Given the description of an element on the screen output the (x, y) to click on. 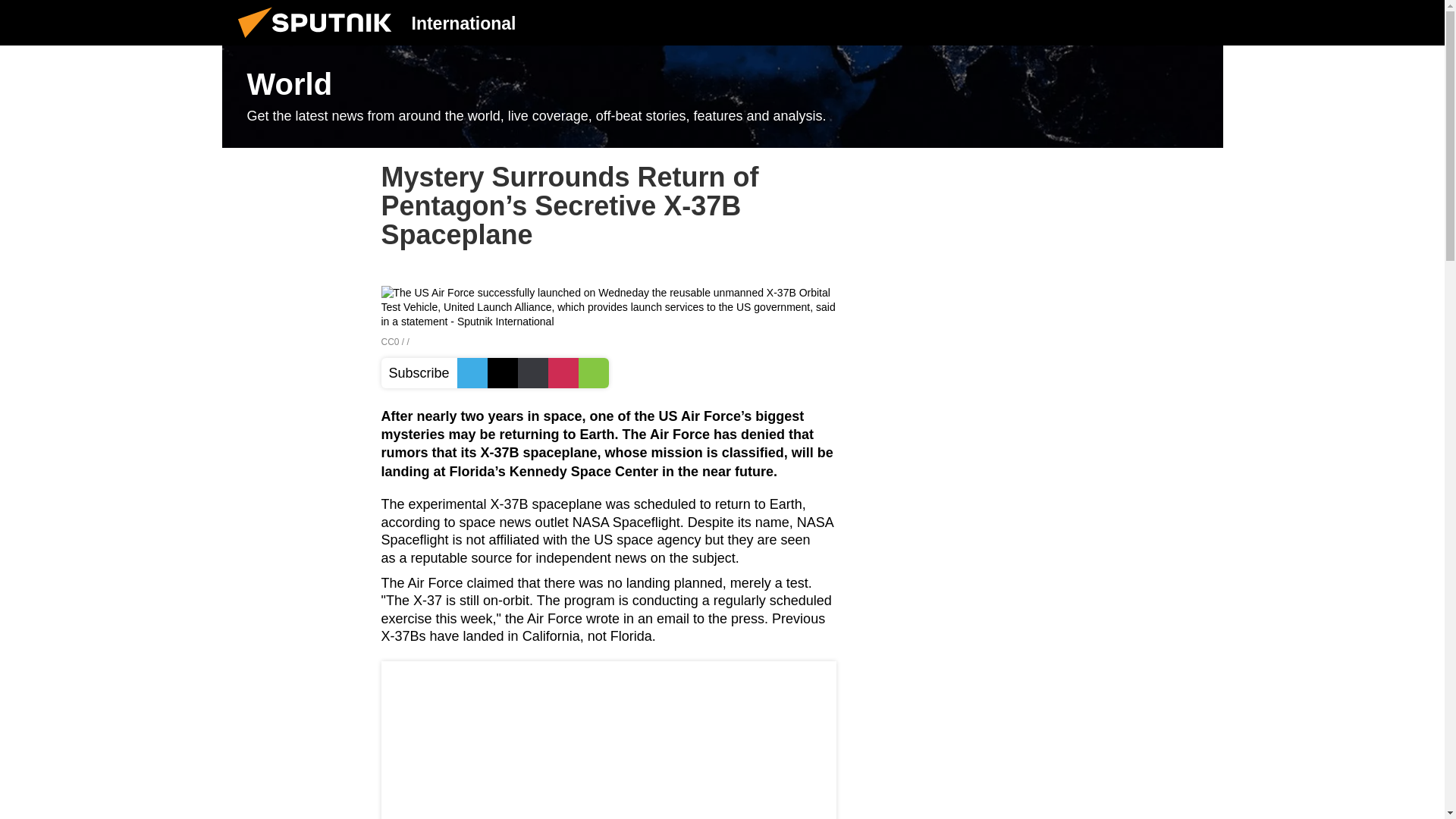
Chats (1199, 22)
Authorization (1123, 22)
Sputnik International (319, 41)
World (722, 96)
